Given the description of an element on the screen output the (x, y) to click on. 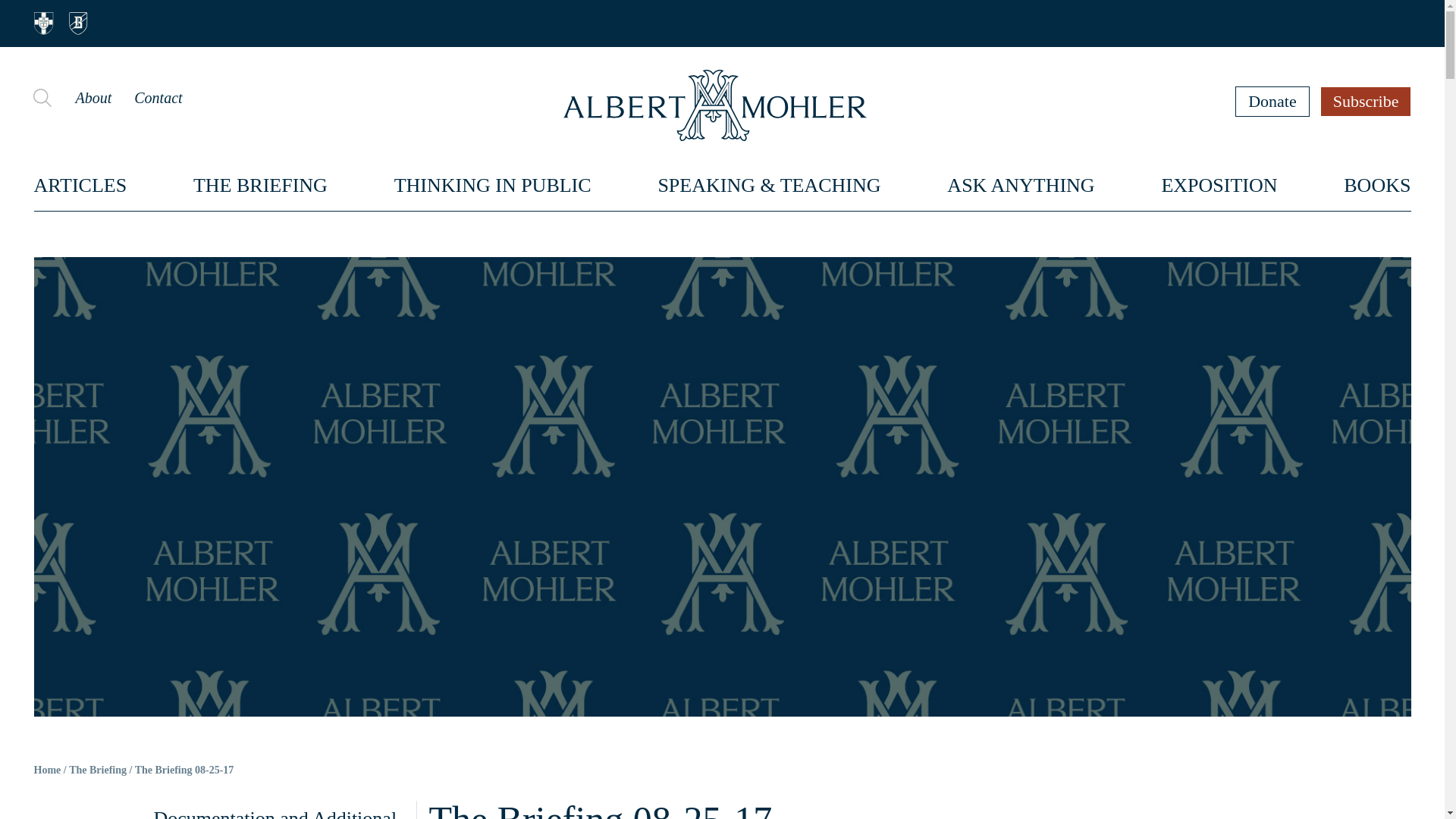
Subscribe (1366, 101)
About (93, 97)
ASK ANYTHING (1020, 185)
EXPOSITION (1218, 185)
Home (47, 770)
THINKING IN PUBLIC (492, 185)
Donate (1272, 101)
ARTICLES (79, 185)
The Briefing (97, 770)
THE BRIEFING (260, 185)
